Given the description of an element on the screen output the (x, y) to click on. 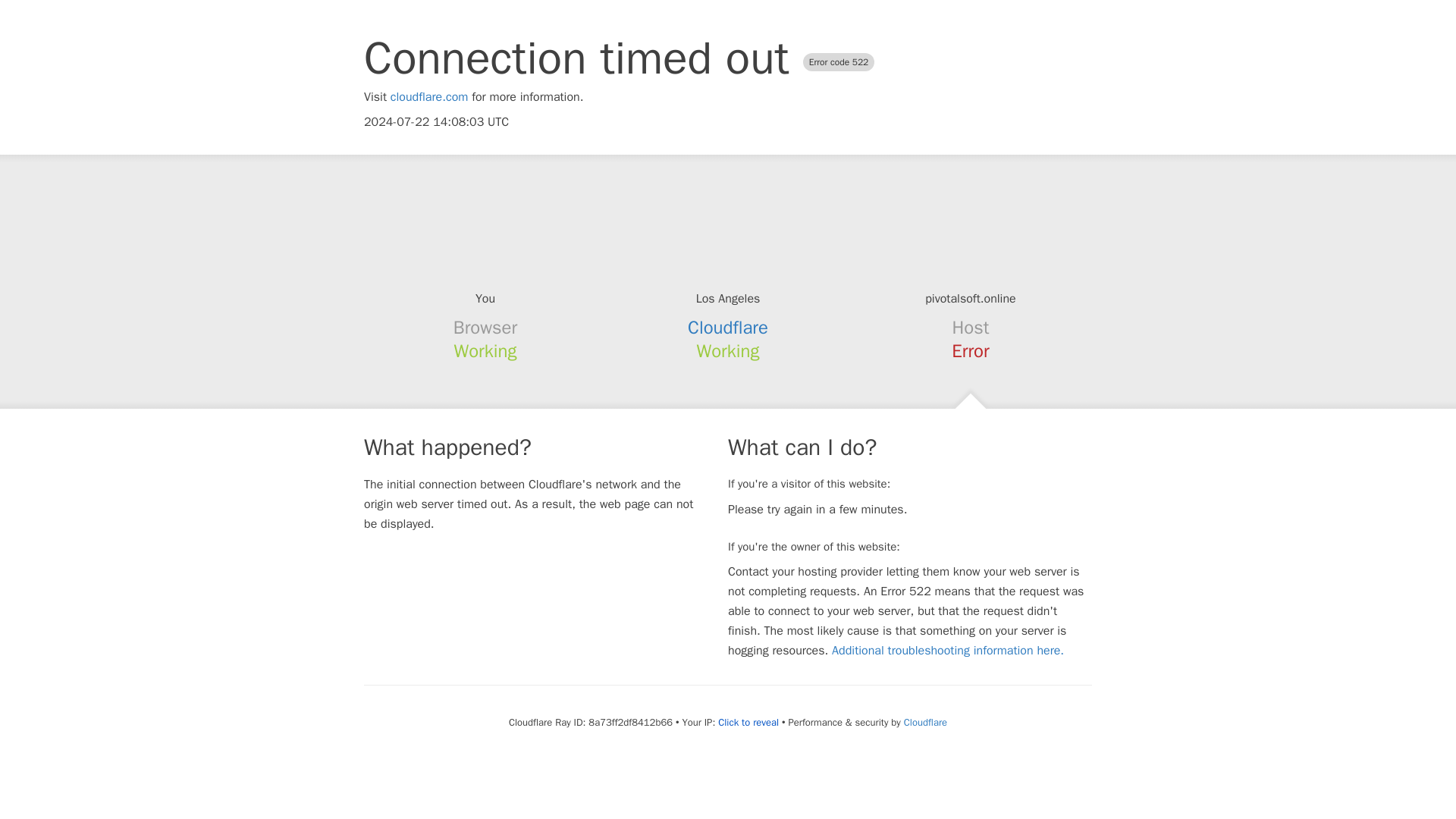
Click to reveal (747, 722)
cloudflare.com (429, 96)
Cloudflare (727, 327)
Additional troubleshooting information here. (947, 650)
Cloudflare (925, 721)
